Given the description of an element on the screen output the (x, y) to click on. 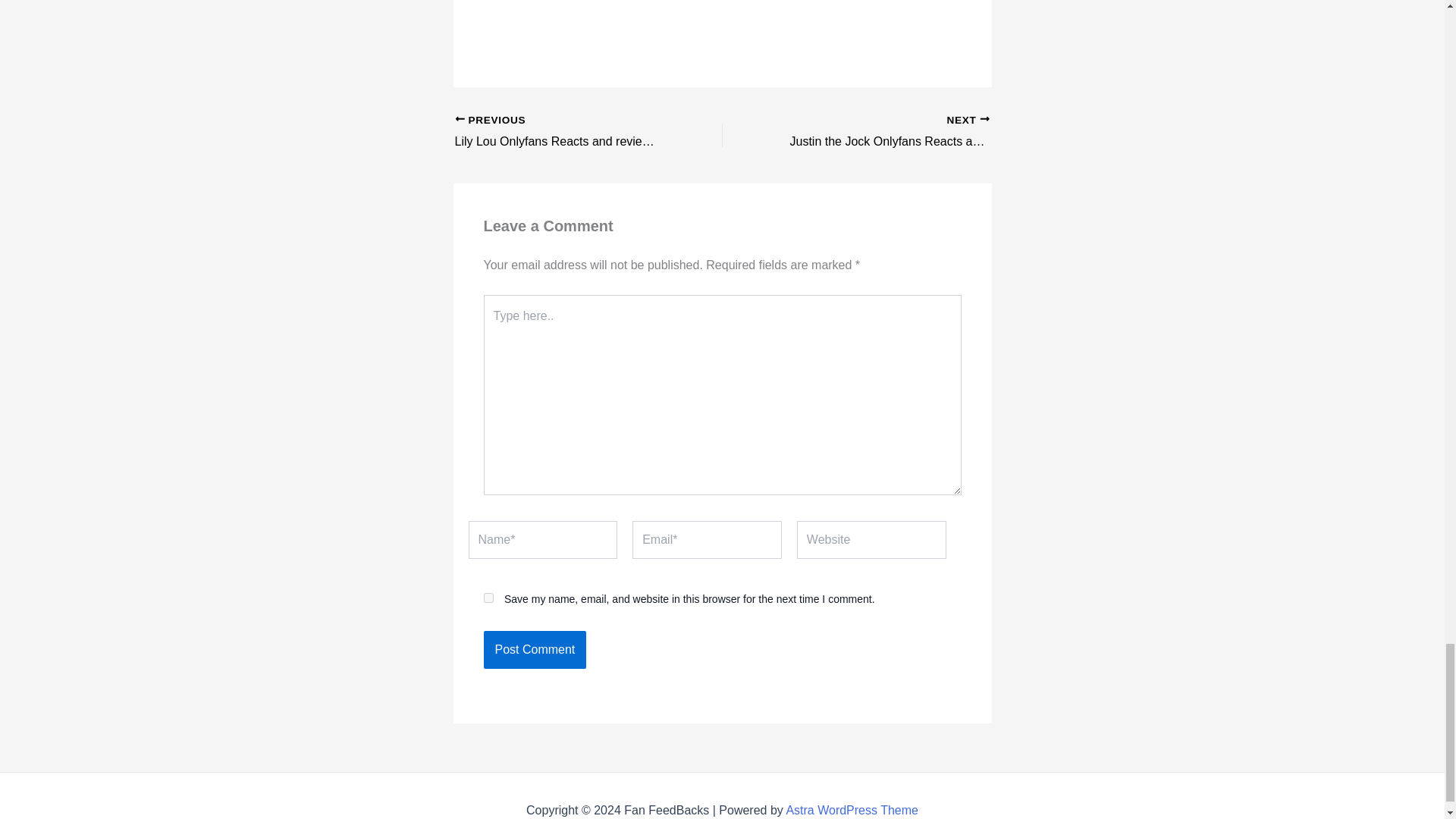
Lily Lou Onlyfans  Reacts and reviews (561, 132)
Justin the Jock Onlyfans  Reacts and reviews (561, 132)
yes (882, 132)
Astra WordPress Theme (882, 132)
Post Comment (488, 597)
Post Comment (852, 809)
